Given the description of an element on the screen output the (x, y) to click on. 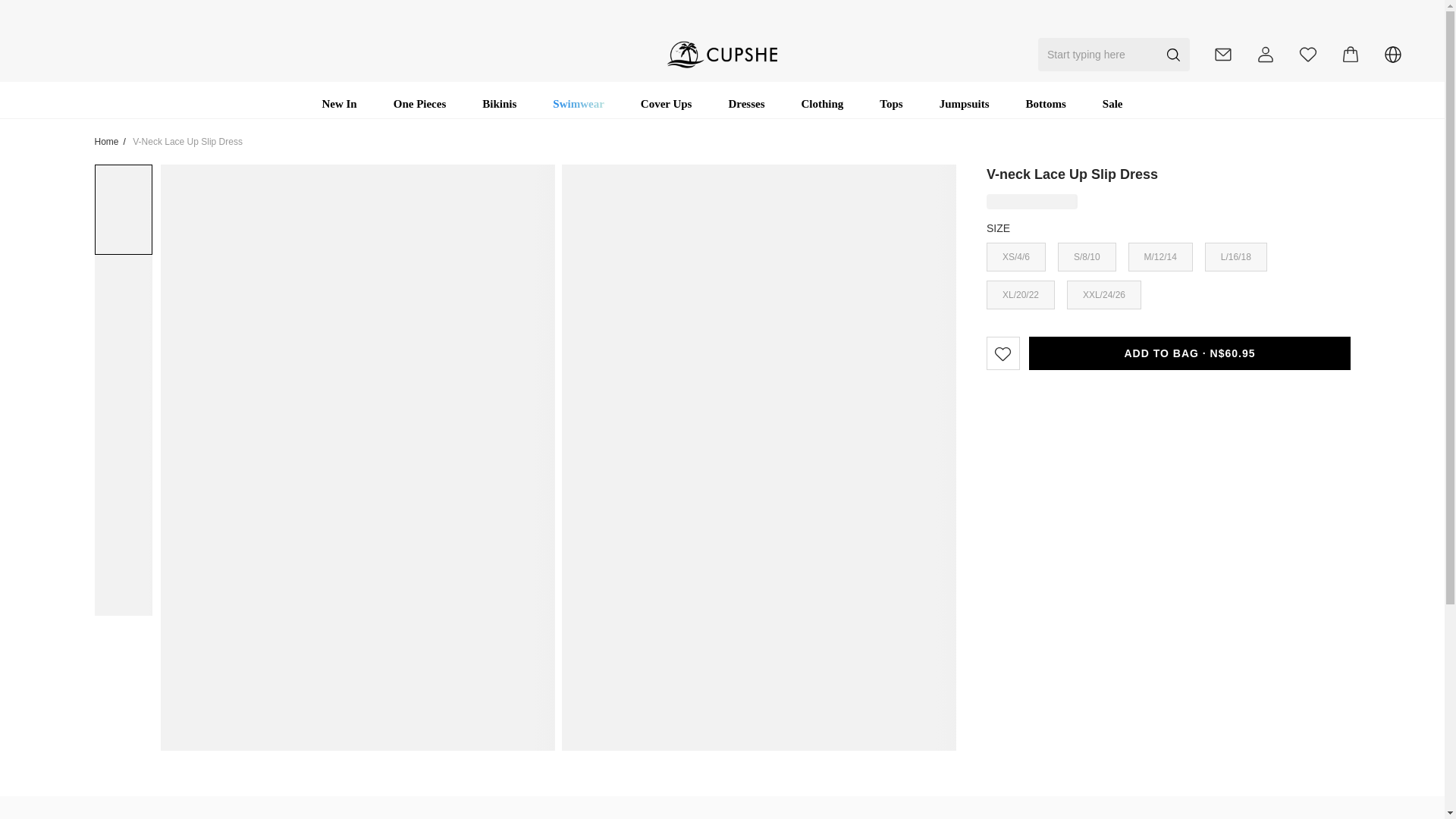
Dresses (746, 103)
Tops (890, 103)
Jumpsuits (964, 103)
Clothing (821, 103)
Bottoms (1045, 103)
Bikinis (498, 103)
New In (338, 103)
Sale (1112, 103)
One Pieces (419, 103)
Swimwear (578, 103)
